Given the description of an element on the screen output the (x, y) to click on. 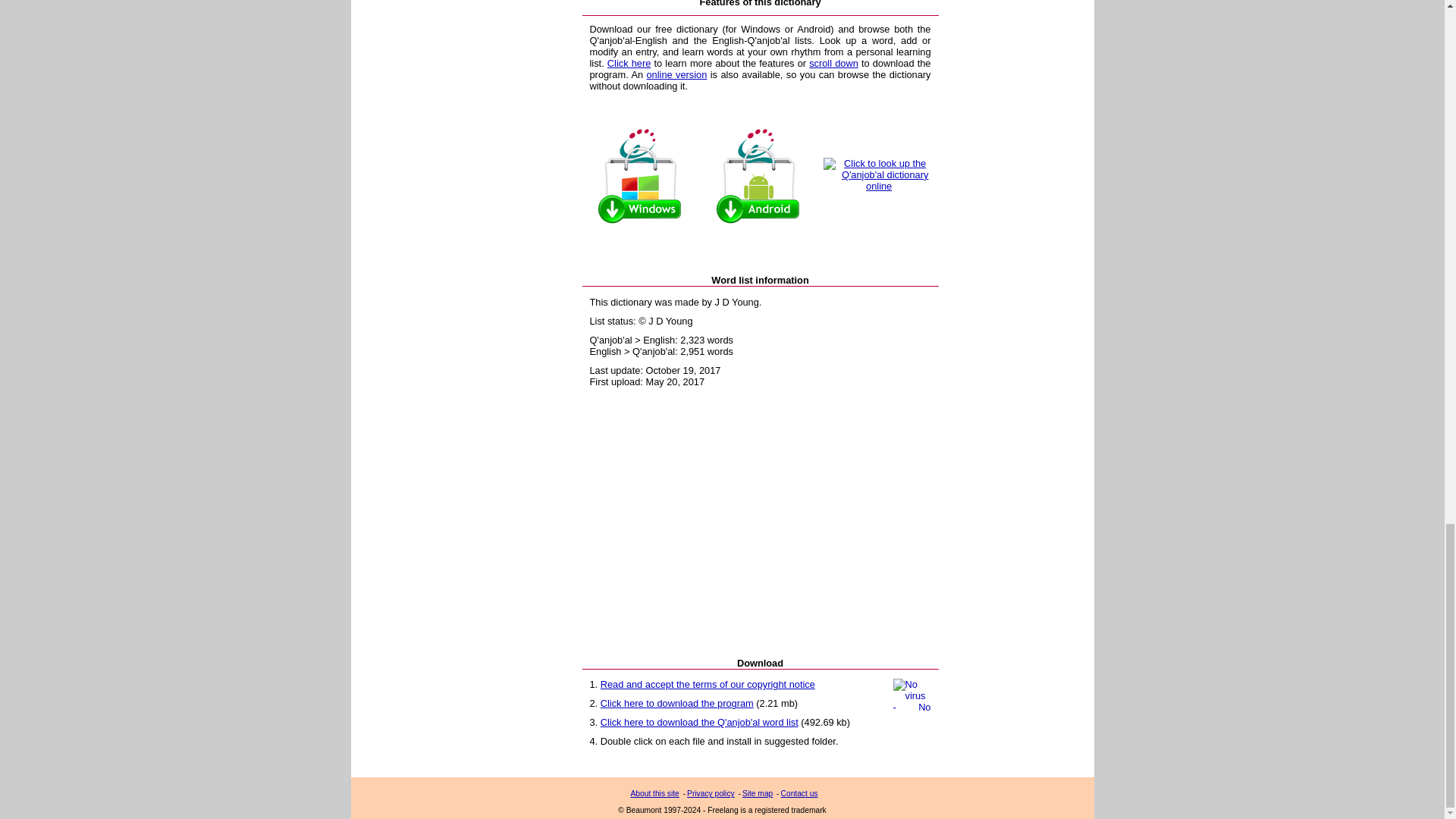
Click here (628, 62)
scroll down (834, 62)
online version (676, 74)
